Given the description of an element on the screen output the (x, y) to click on. 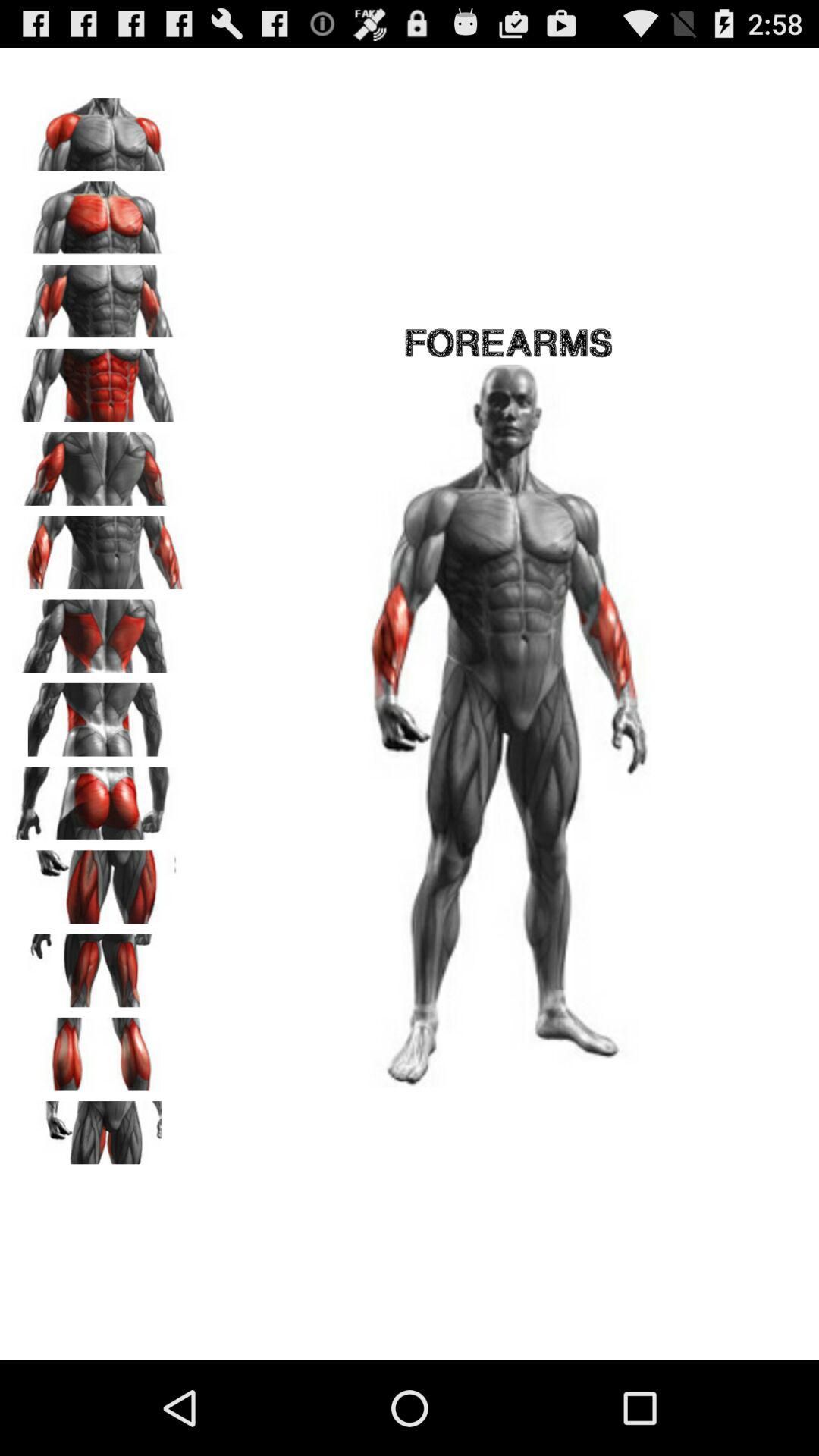
select the image which is below forearms (508, 726)
